Given the description of an element on the screen output the (x, y) to click on. 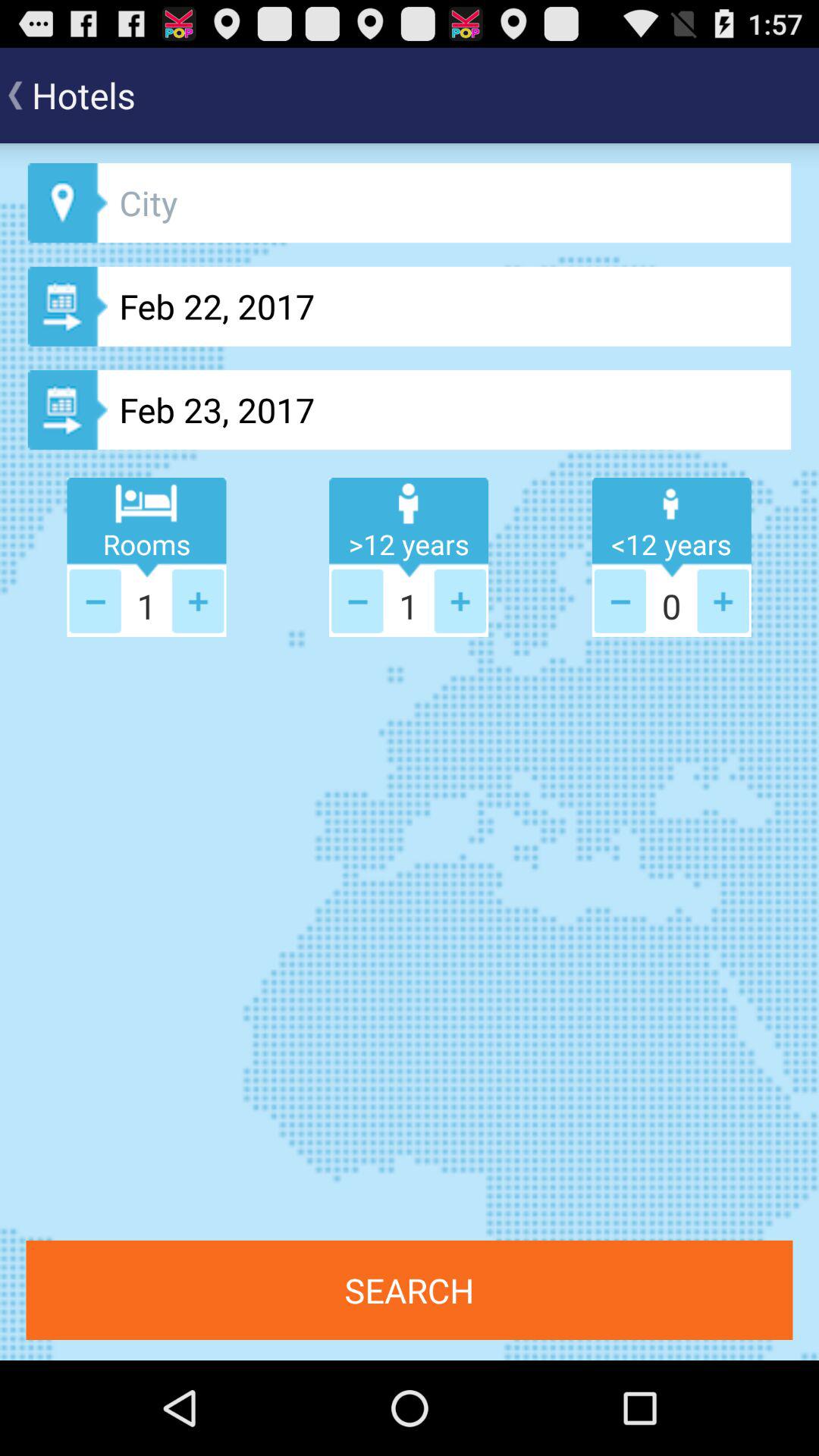
reduce (620, 601)
